Given the description of an element on the screen output the (x, y) to click on. 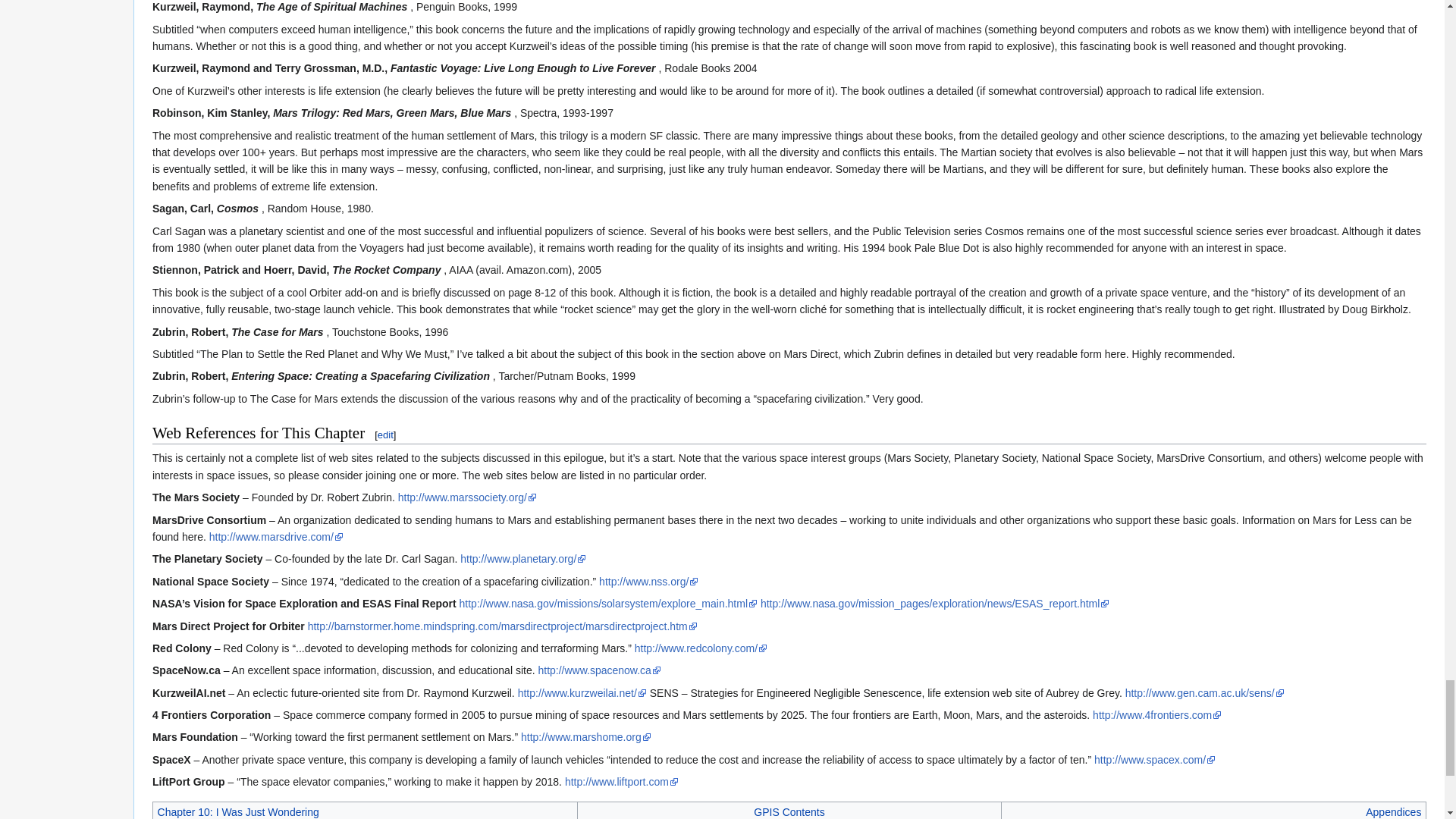
Edit section: Web References for This Chapter (385, 434)
GPIS 10: I Was Just Wondering (237, 811)
edit (385, 434)
GPIS Appendices (1393, 811)
Go Play In Space (789, 811)
